Given the description of an element on the screen output the (x, y) to click on. 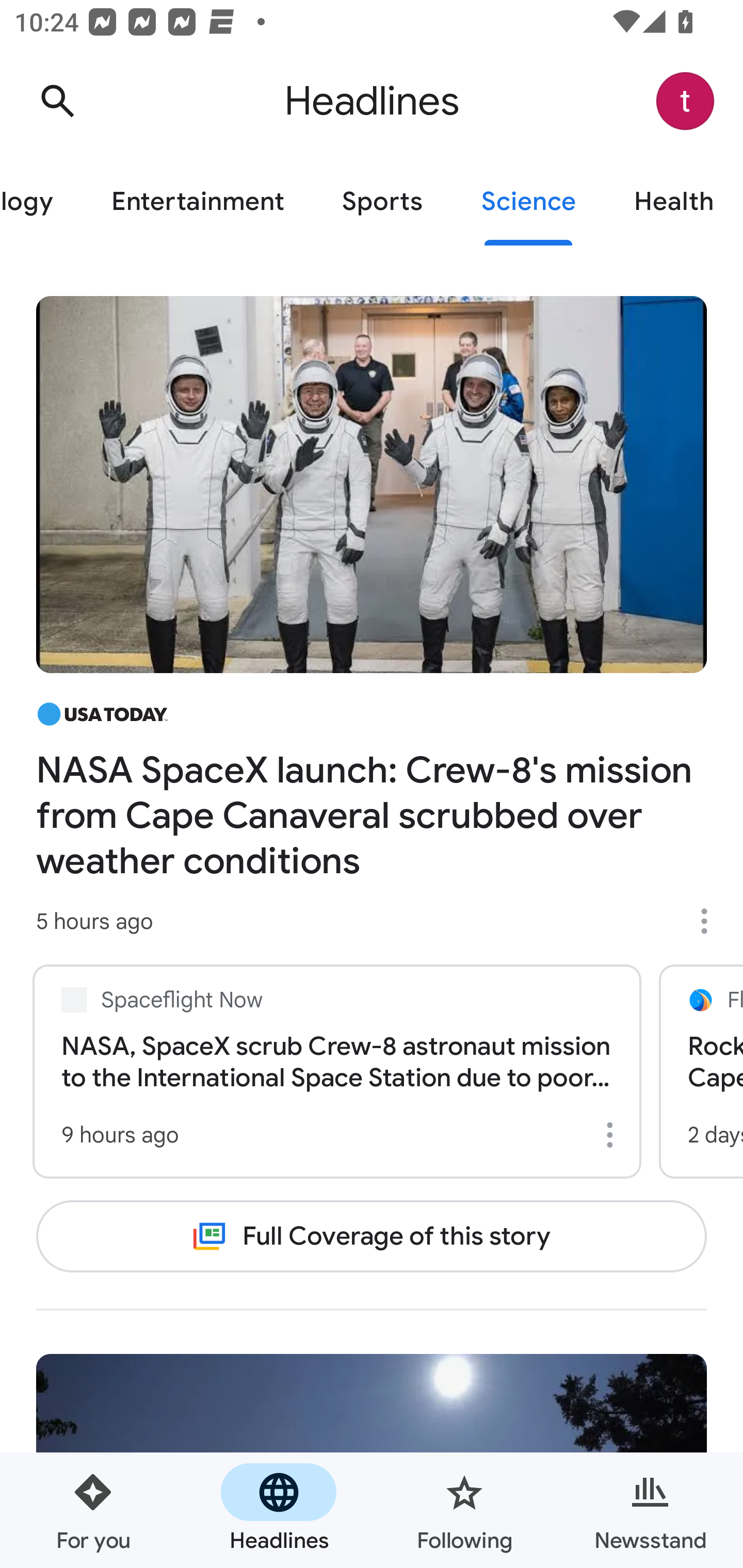
Search (57, 100)
Technology (40, 202)
Entertainment (197, 202)
Sports (382, 202)
Health (673, 202)
More options (711, 921)
More options (613, 1134)
Full Coverage of this story (371, 1236)
For you (92, 1509)
Headlines (278, 1509)
Following (464, 1509)
Newsstand (650, 1509)
